Given the description of an element on the screen output the (x, y) to click on. 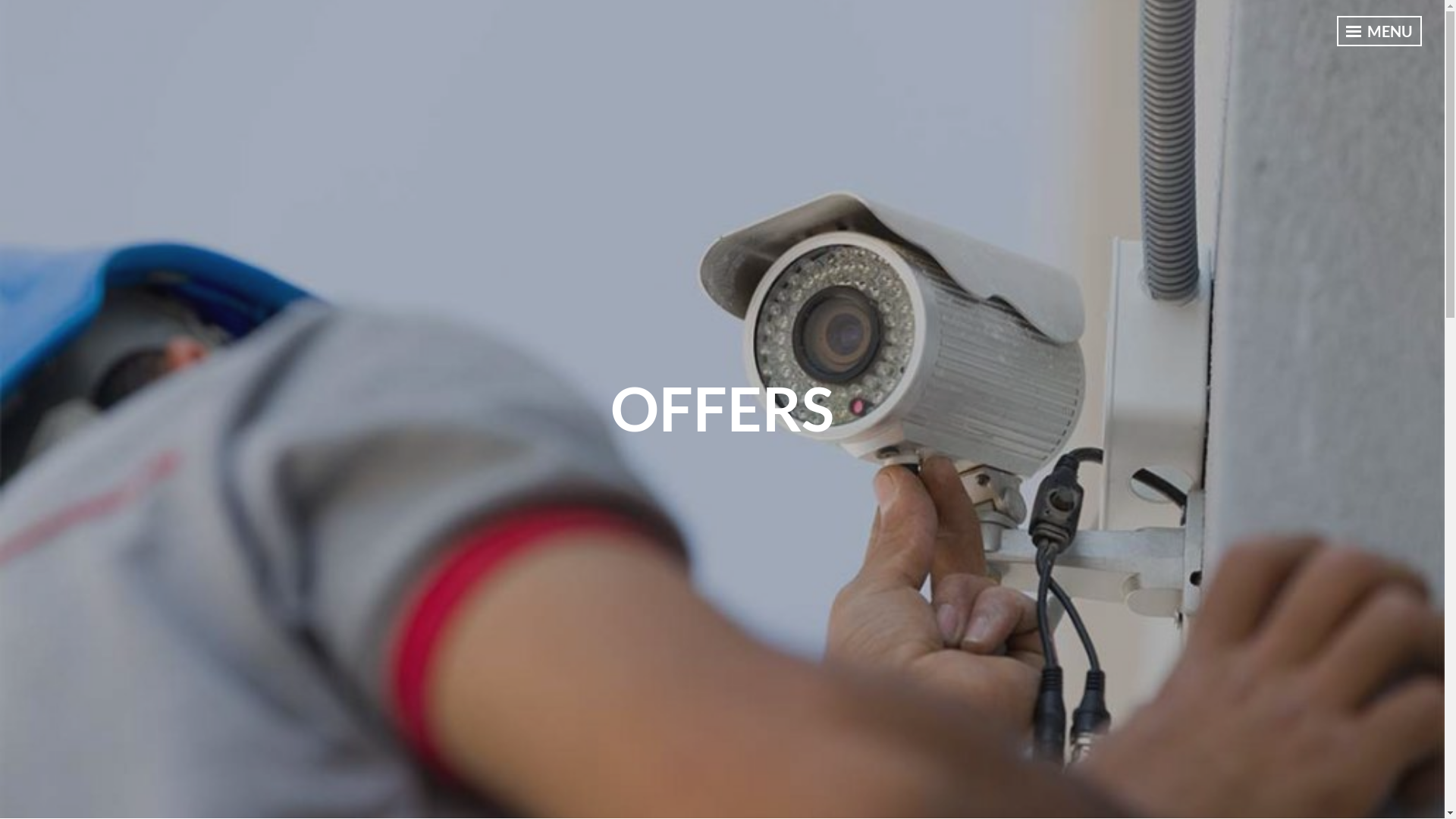
MENU Element type: text (1378, 30)
EYE SPY SECURITY SYSTEMS Element type: text (171, 23)
Search Element type: text (38, 18)
